Given the description of an element on the screen output the (x, y) to click on. 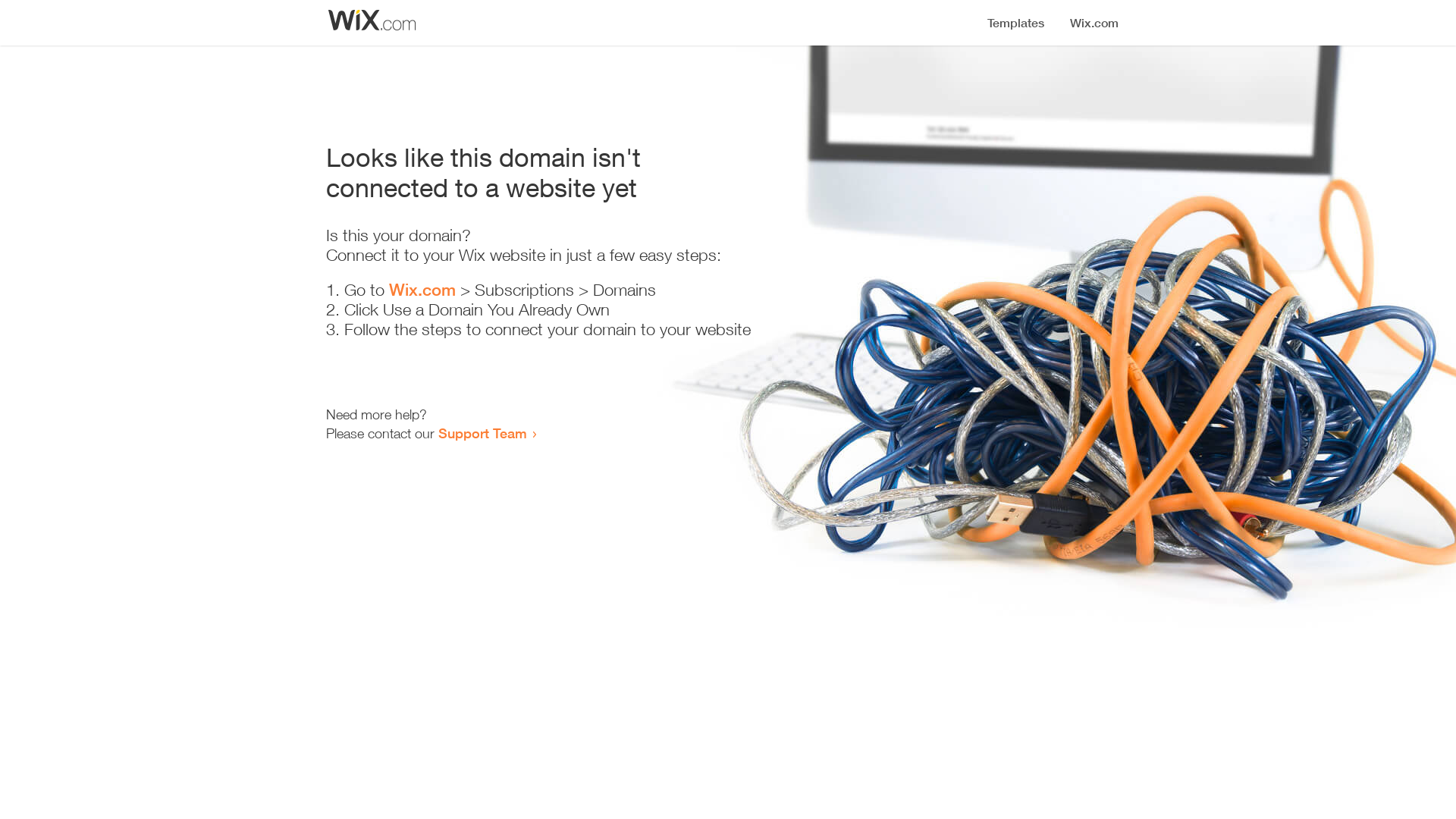
Support Team Element type: text (482, 432)
Wix.com Element type: text (422, 289)
